Given the description of an element on the screen output the (x, y) to click on. 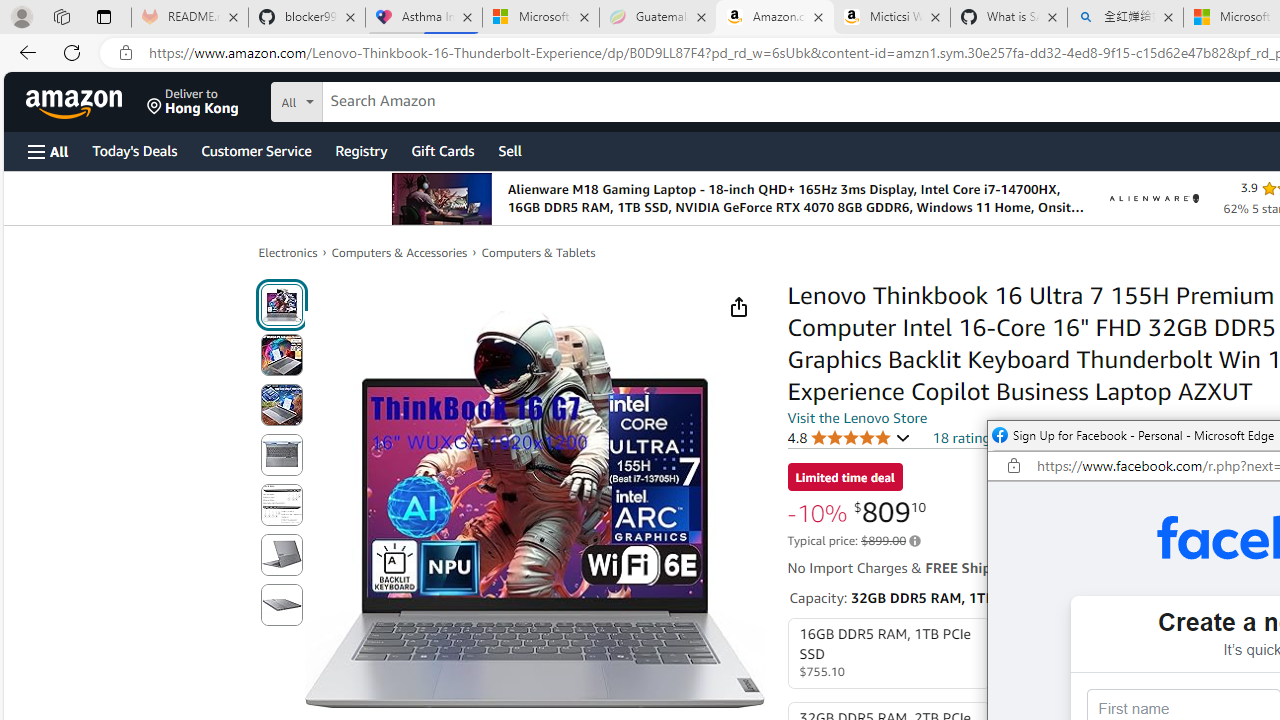
Registry (360, 150)
Today's Deals (134, 150)
4.8 4.8 out of 5 stars (849, 437)
Share (738, 307)
Open Menu (48, 151)
Deliver to Hong Kong (193, 101)
